Given the description of an element on the screen output the (x, y) to click on. 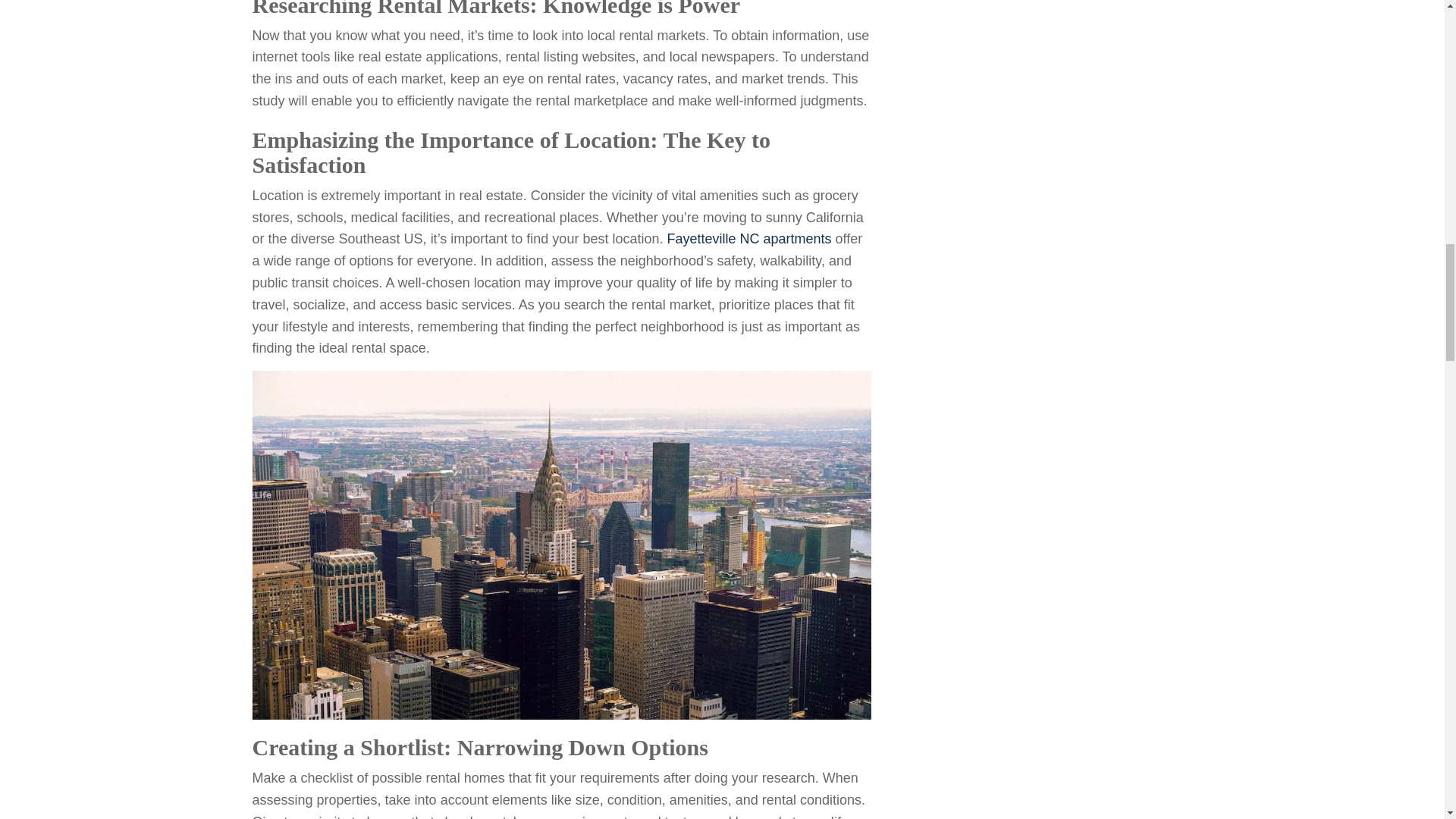
Fayetteville NC apartments (748, 238)
